Given the description of an element on the screen output the (x, y) to click on. 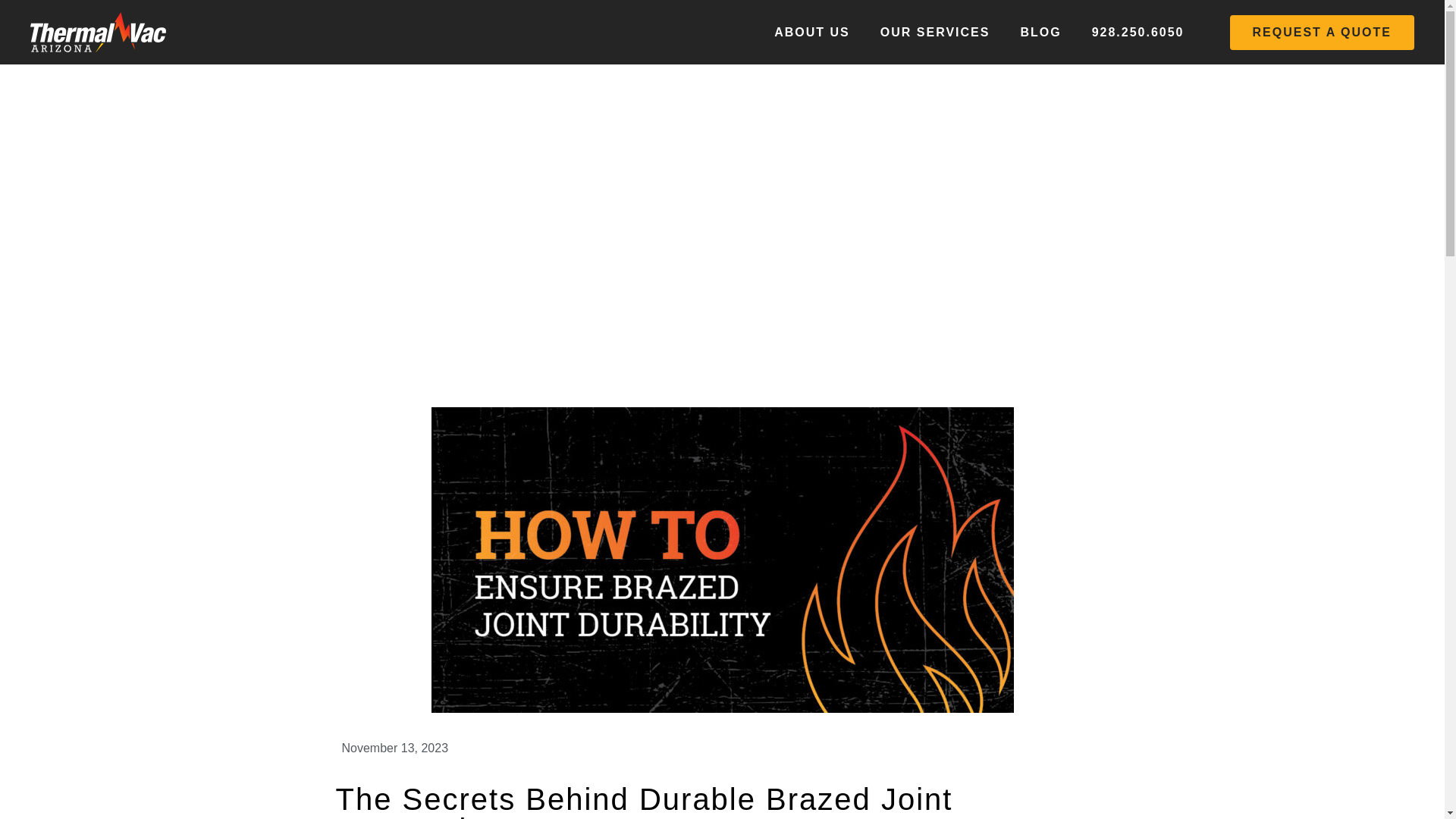
ABOUT US (811, 32)
BLOG (1039, 32)
REQUEST A QUOTE (1322, 32)
928.250.6050 (1138, 32)
OUR SERVICES (935, 32)
